Given the description of an element on the screen output the (x, y) to click on. 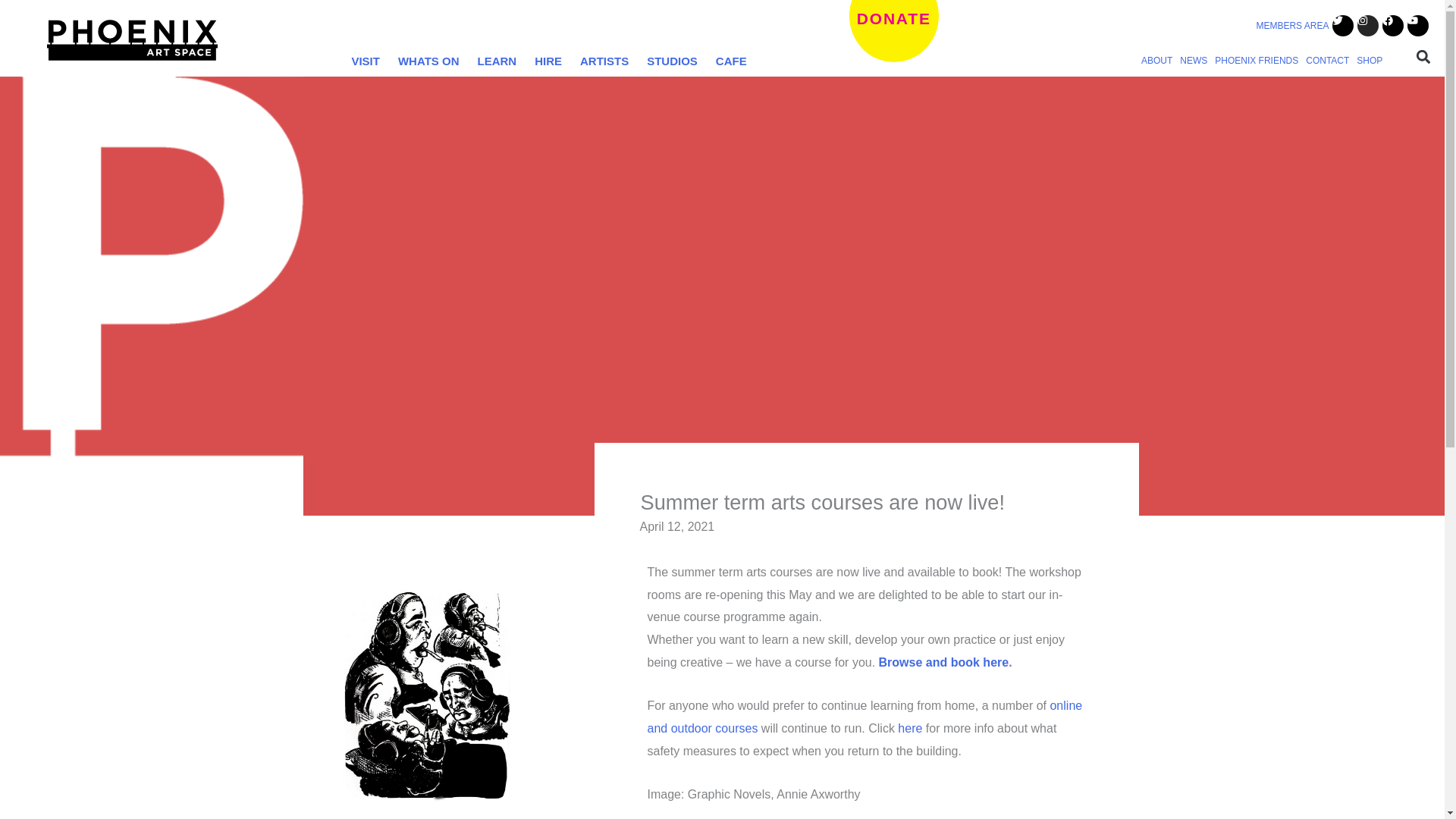
ABOUT (1156, 59)
CONTACT (1326, 59)
ARTISTS (603, 61)
Twitter (1343, 25)
VISIT (365, 61)
Instagram (1367, 25)
PHOENIX FRIENDS (1256, 59)
Youtube (1417, 25)
DONATE (893, 31)
LEARN (496, 61)
SHOP (1369, 59)
CAFE (730, 61)
NEWS (1193, 59)
MEMBERS AREA (1291, 25)
Facebook (1392, 25)
